Given the description of an element on the screen output the (x, y) to click on. 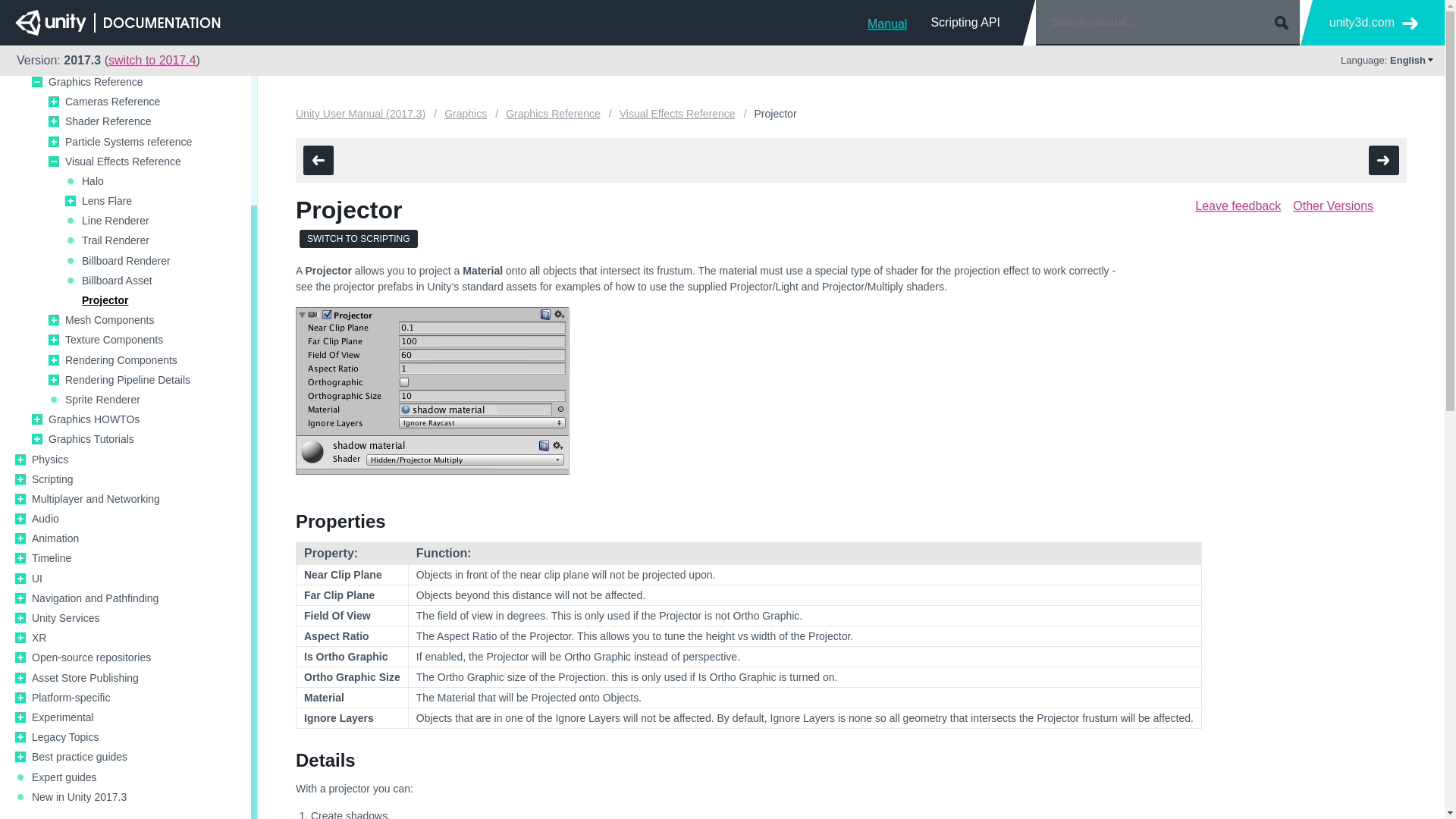
unity3d.com (1373, 22)
Scripting API (965, 22)
Manual (887, 22)
Go to Projector page in the Scripting Reference (358, 239)
switch to 2017.4 (151, 60)
Leave feedback (1238, 206)
